Given the description of an element on the screen output the (x, y) to click on. 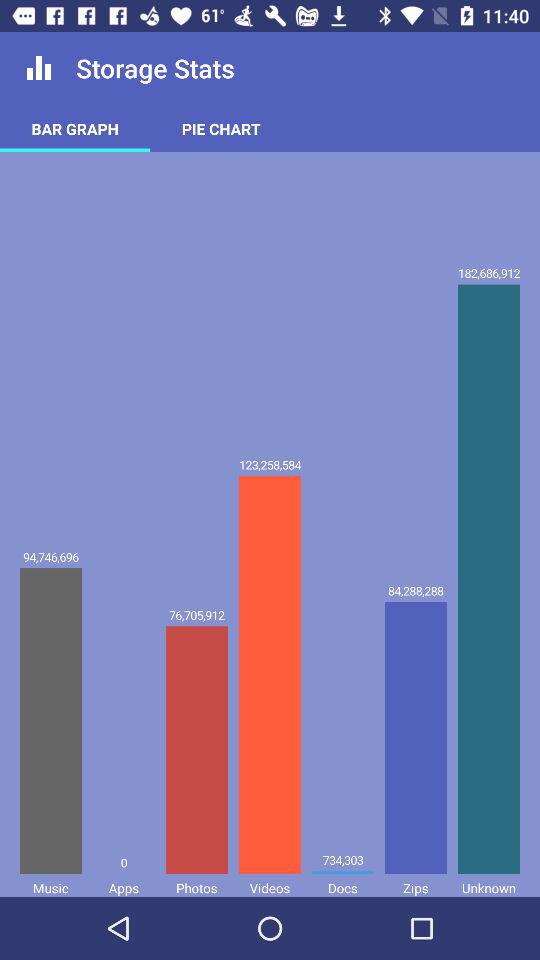
turn on the item next to pie chart (75, 128)
